Given the description of an element on the screen output the (x, y) to click on. 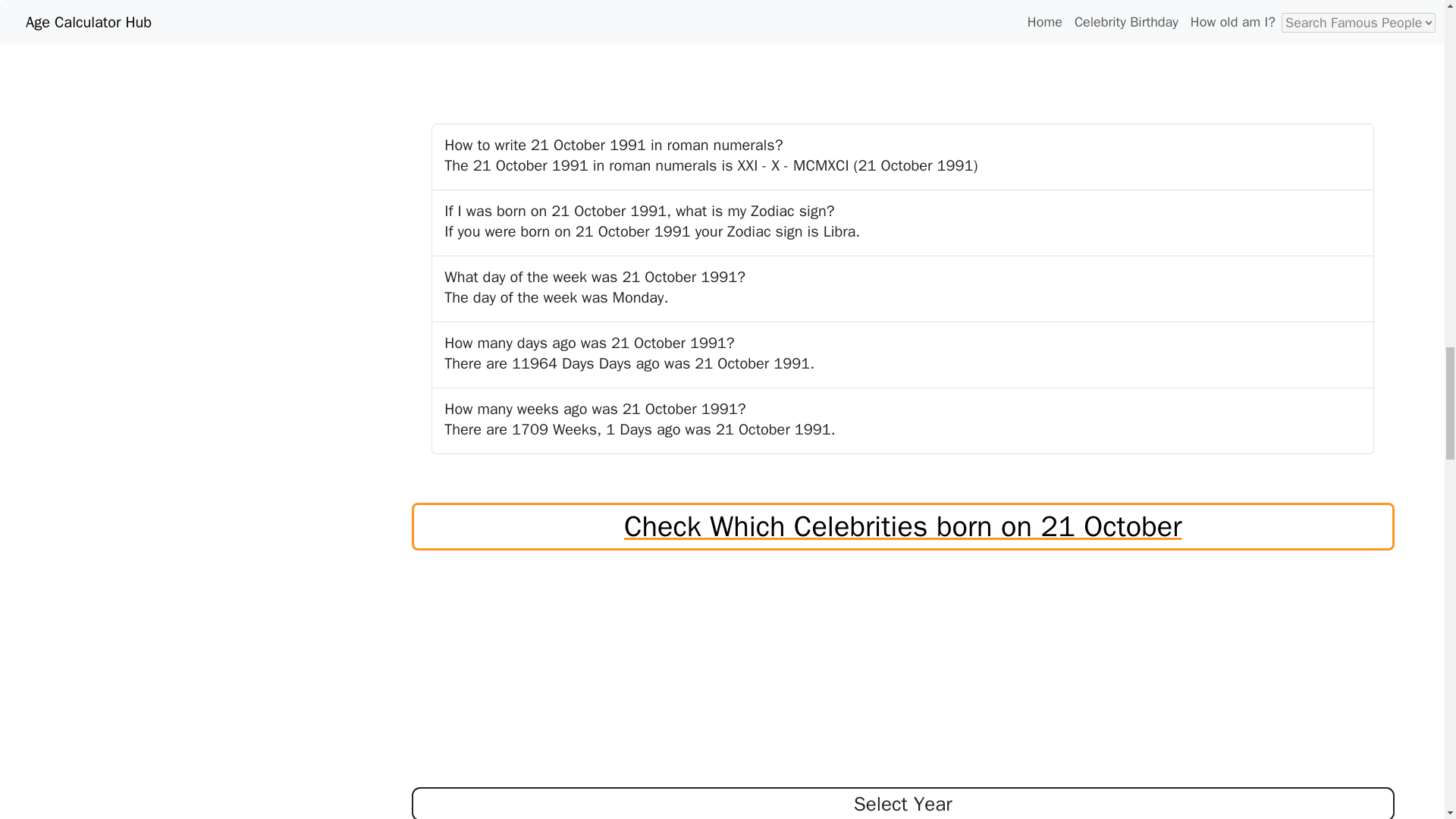
Advertisement (903, 43)
